Given the description of an element on the screen output the (x, y) to click on. 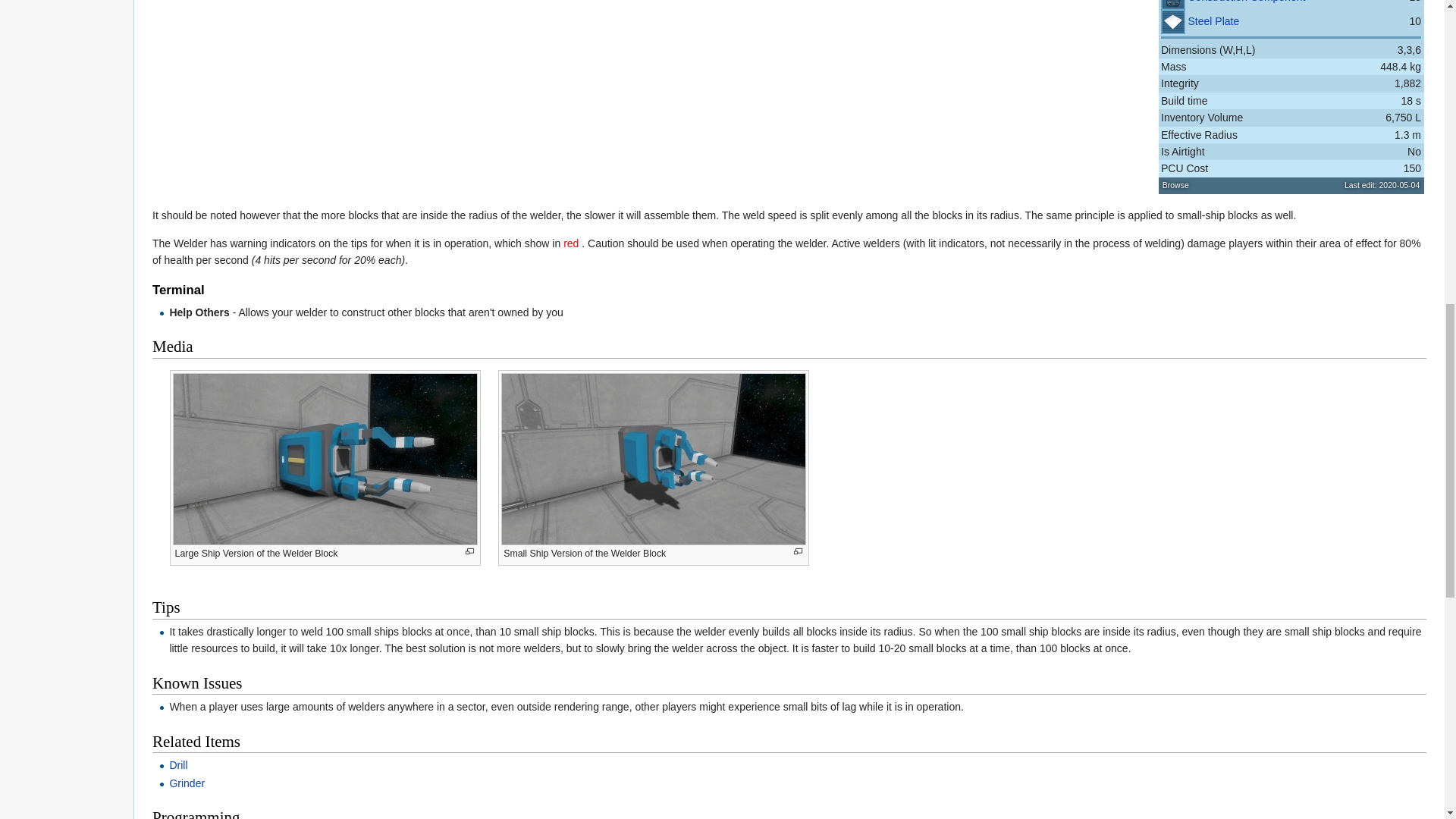
Construction Component (1246, 1)
Browse (1175, 185)
Steel Plate (1213, 21)
